Given the description of an element on the screen output the (x, y) to click on. 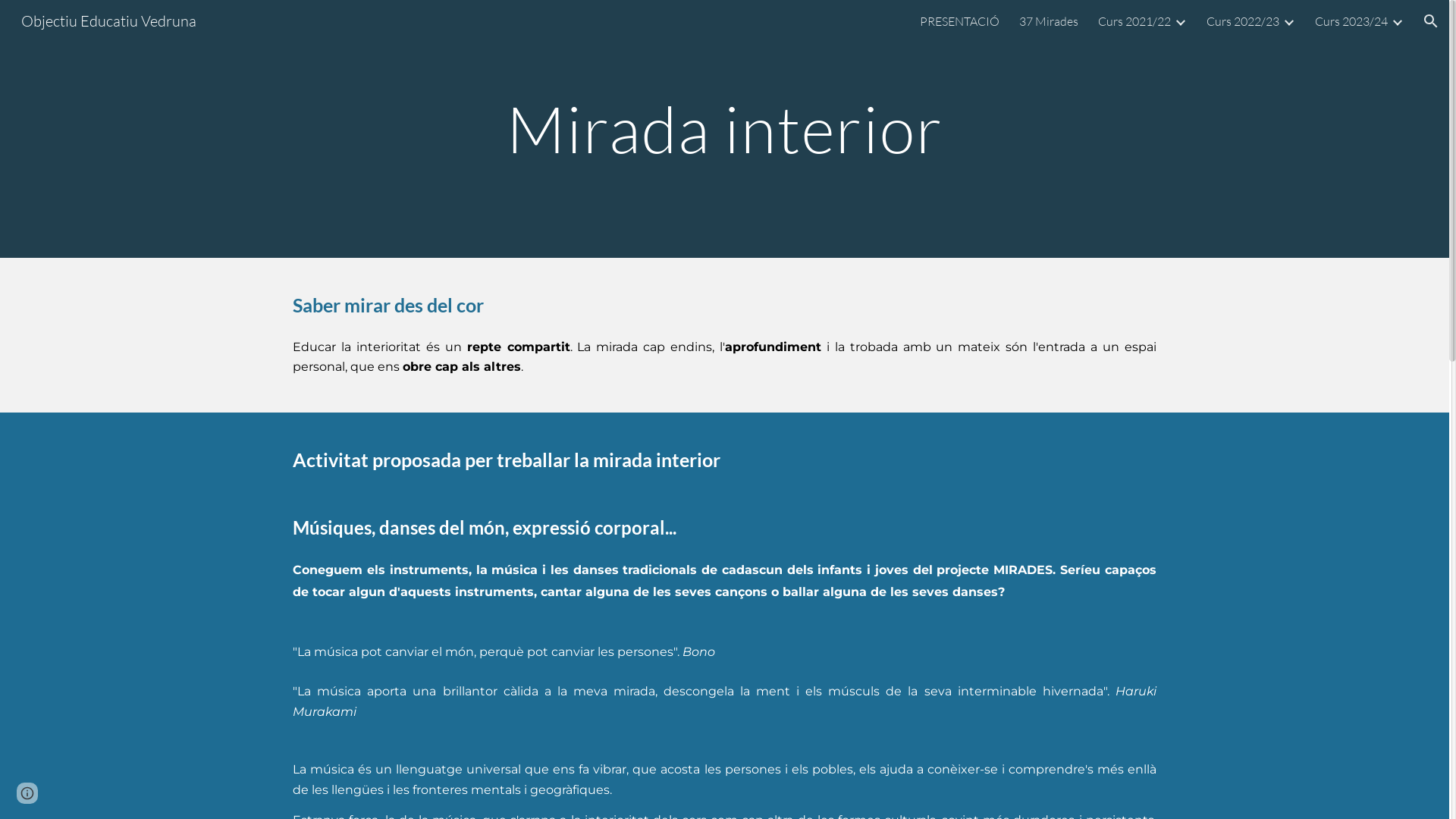
Expand/Collapse Element type: hover (1396, 20)
Curs 2022/23 Element type: text (1242, 20)
Curs 2023/24 Element type: text (1350, 20)
Curs 2021/22 Element type: text (1134, 20)
Expand/Collapse Element type: hover (1179, 20)
37 Mirades Element type: text (1048, 20)
Expand/Collapse Element type: hover (1288, 20)
Objectiu Educatiu Vedruna Element type: text (108, 18)
